Given the description of an element on the screen output the (x, y) to click on. 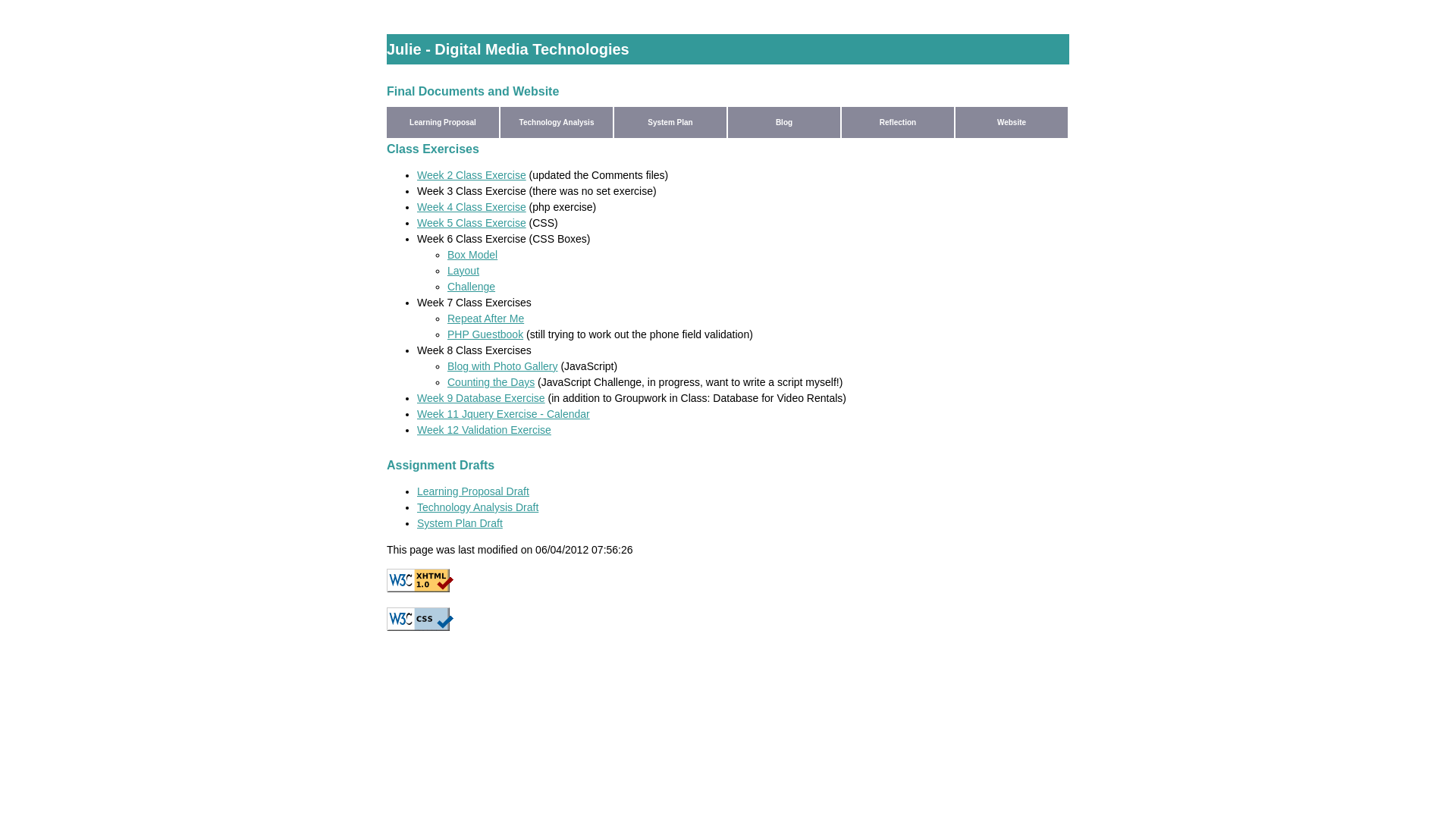
Learning Proposal Element type: text (442, 122)
System Plan Draft Element type: text (459, 523)
Week 2 Class Exercise Element type: text (471, 175)
Reflection Element type: text (897, 122)
Learning Proposal Draft Element type: text (473, 491)
System Plan Element type: text (670, 122)
Layout Element type: text (463, 270)
PHP Guestbook Element type: text (485, 334)
Counting the Days Element type: text (490, 382)
Week 4 Class Exercise Element type: text (471, 206)
Challenge Element type: text (471, 286)
Week 9 Database Exercise Element type: text (481, 398)
Blog Element type: text (784, 122)
Box Model Element type: text (472, 254)
Repeat After Me Element type: text (485, 318)
Technology Analysis Element type: text (556, 122)
Blog with Photo Gallery Element type: text (502, 366)
Week 5 Class Exercise Element type: text (471, 222)
Technology Analysis Draft Element type: text (477, 507)
Week 11 Jquery Exercise - Calendar Element type: text (503, 413)
Week 12 Validation Exercise Element type: text (484, 429)
Website Element type: text (1011, 122)
